Given the description of an element on the screen output the (x, y) to click on. 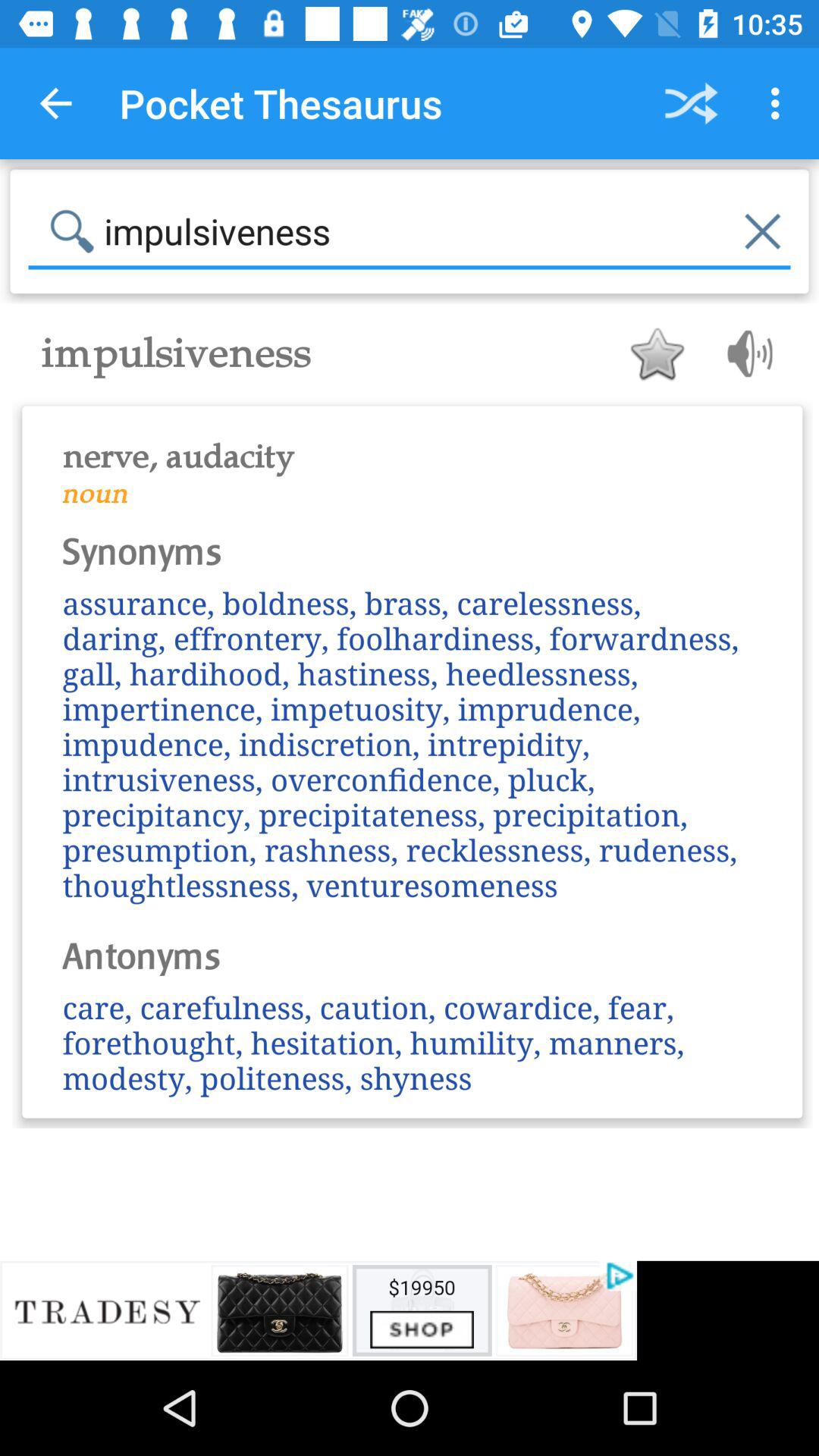
for volume (745, 353)
